Given the description of an element on the screen output the (x, y) to click on. 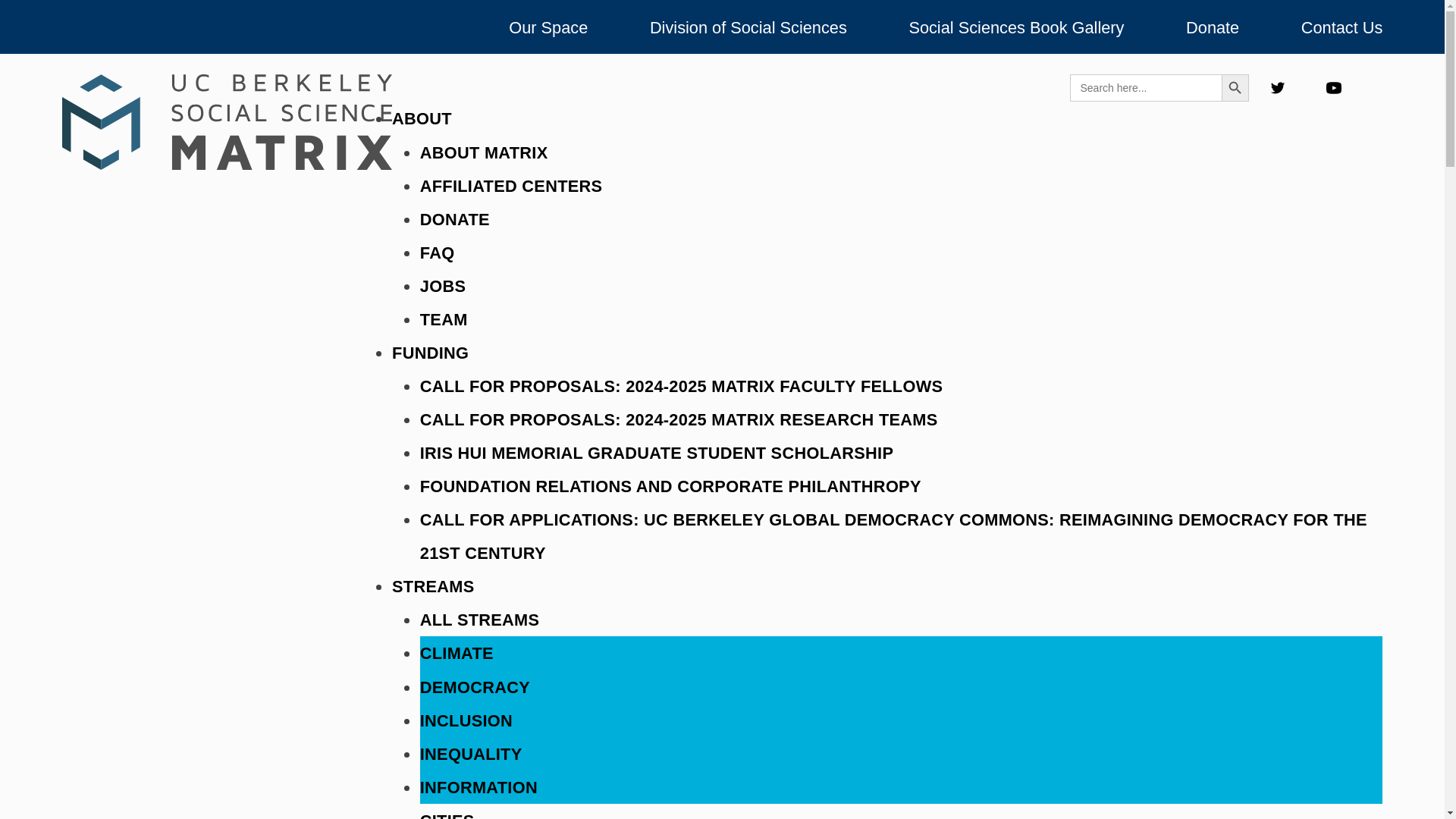
JOBS (442, 285)
Social Sciences Book Gallery (1016, 27)
CLIMATE (456, 652)
TEAM (443, 318)
Donate (1212, 27)
FUNDING (429, 352)
Contact Us (1342, 27)
ABOUT (421, 117)
AFFILIATED CENTERS (511, 185)
INFORMATION (478, 786)
